Given the description of an element on the screen output the (x, y) to click on. 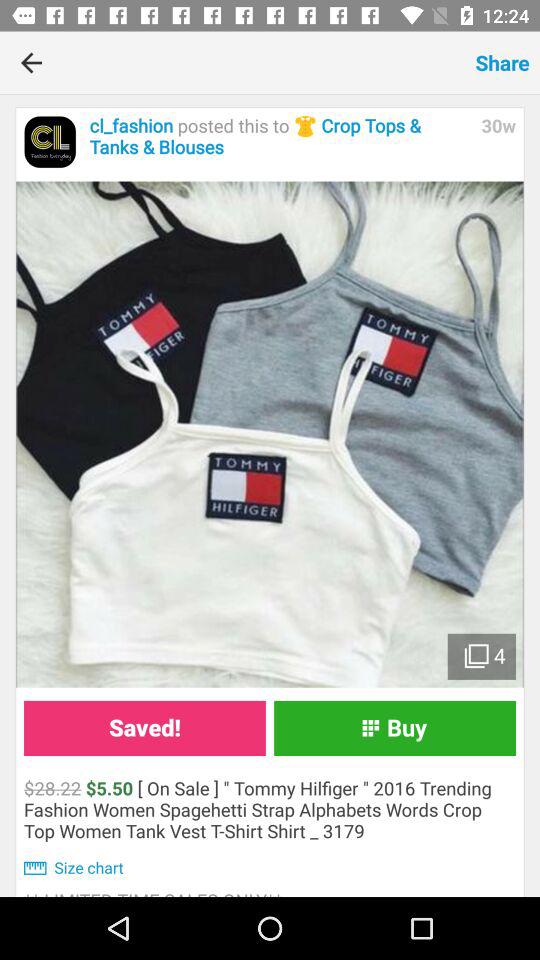
expand images (269, 434)
